Given the description of an element on the screen output the (x, y) to click on. 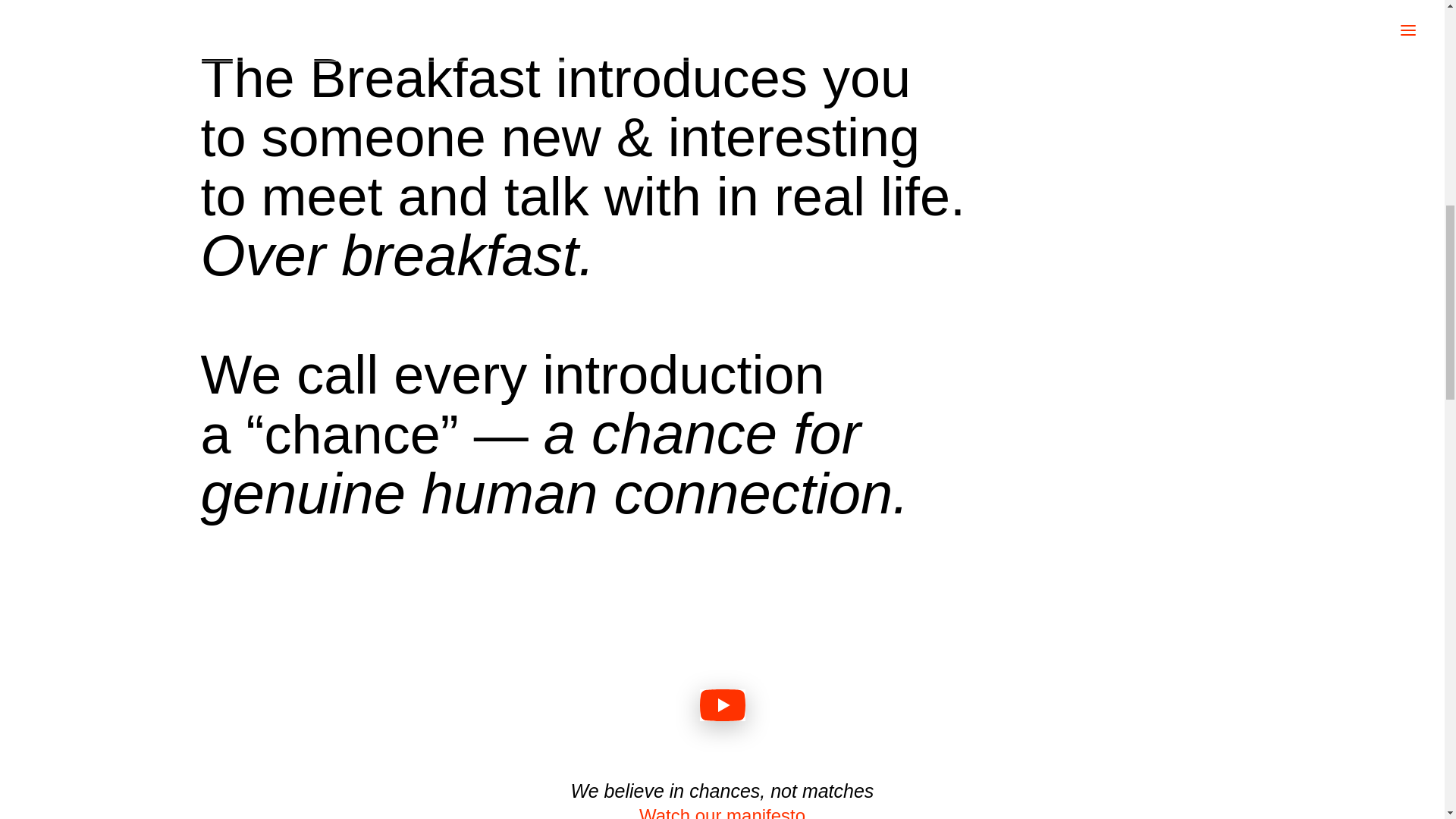
Watch our manifesto (721, 811)
